Given the description of an element on the screen output the (x, y) to click on. 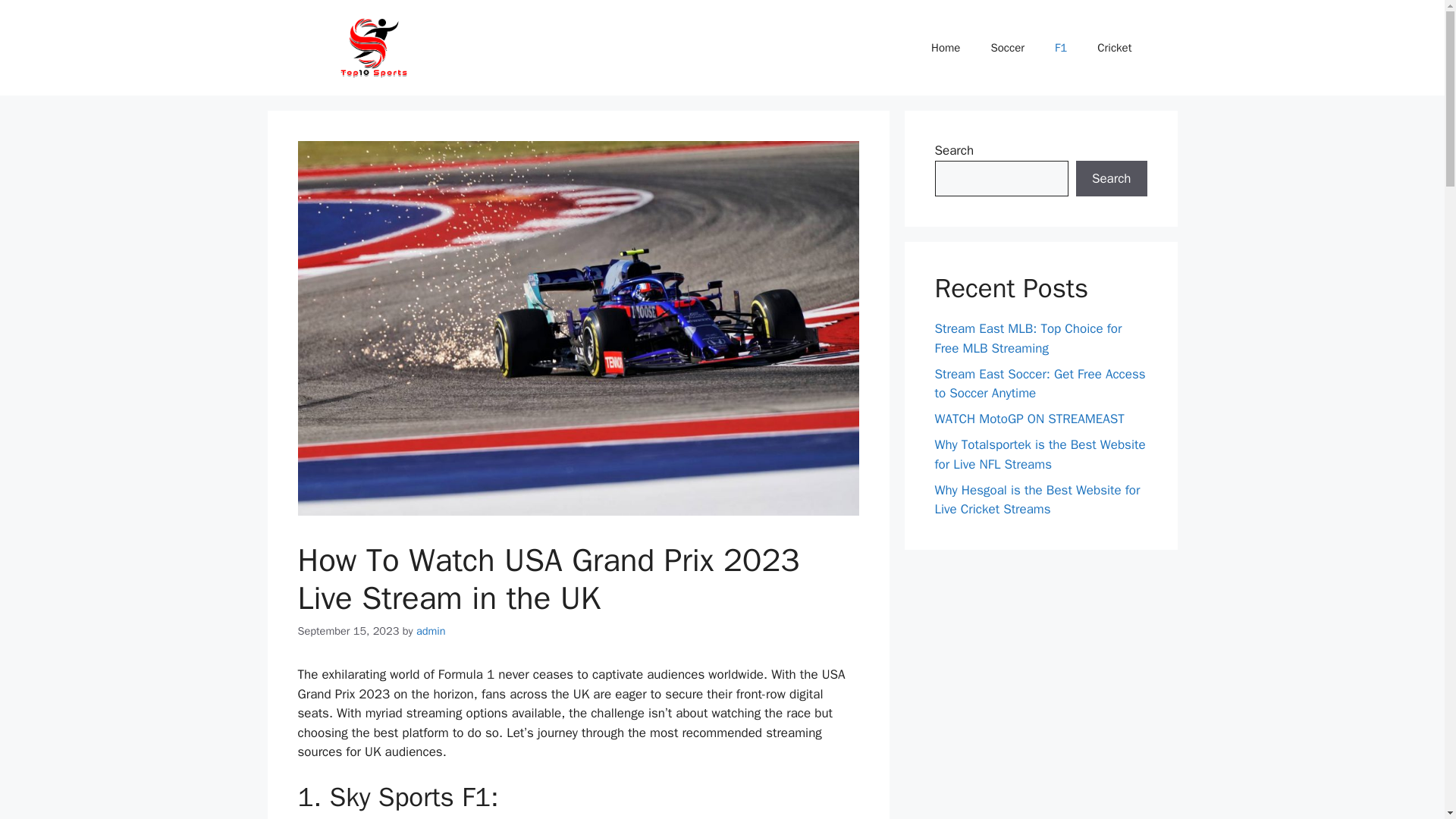
Stream East Soccer: Get Free Access to Soccer Anytime (1039, 384)
Soccer (1007, 47)
Why Hesgoal is the Best Website for Live Cricket Streams (1037, 499)
Cricket (1114, 47)
WATCH MotoGP ON STREAMEAST (1029, 418)
Home (945, 47)
Why Totalsportek is the Best Website for Live NFL Streams (1039, 454)
Search (1111, 178)
admin (430, 631)
View all posts by admin (430, 631)
Stream East MLB: Top Choice for Free MLB Streaming (1027, 338)
F1 (1060, 47)
